Given the description of an element on the screen output the (x, y) to click on. 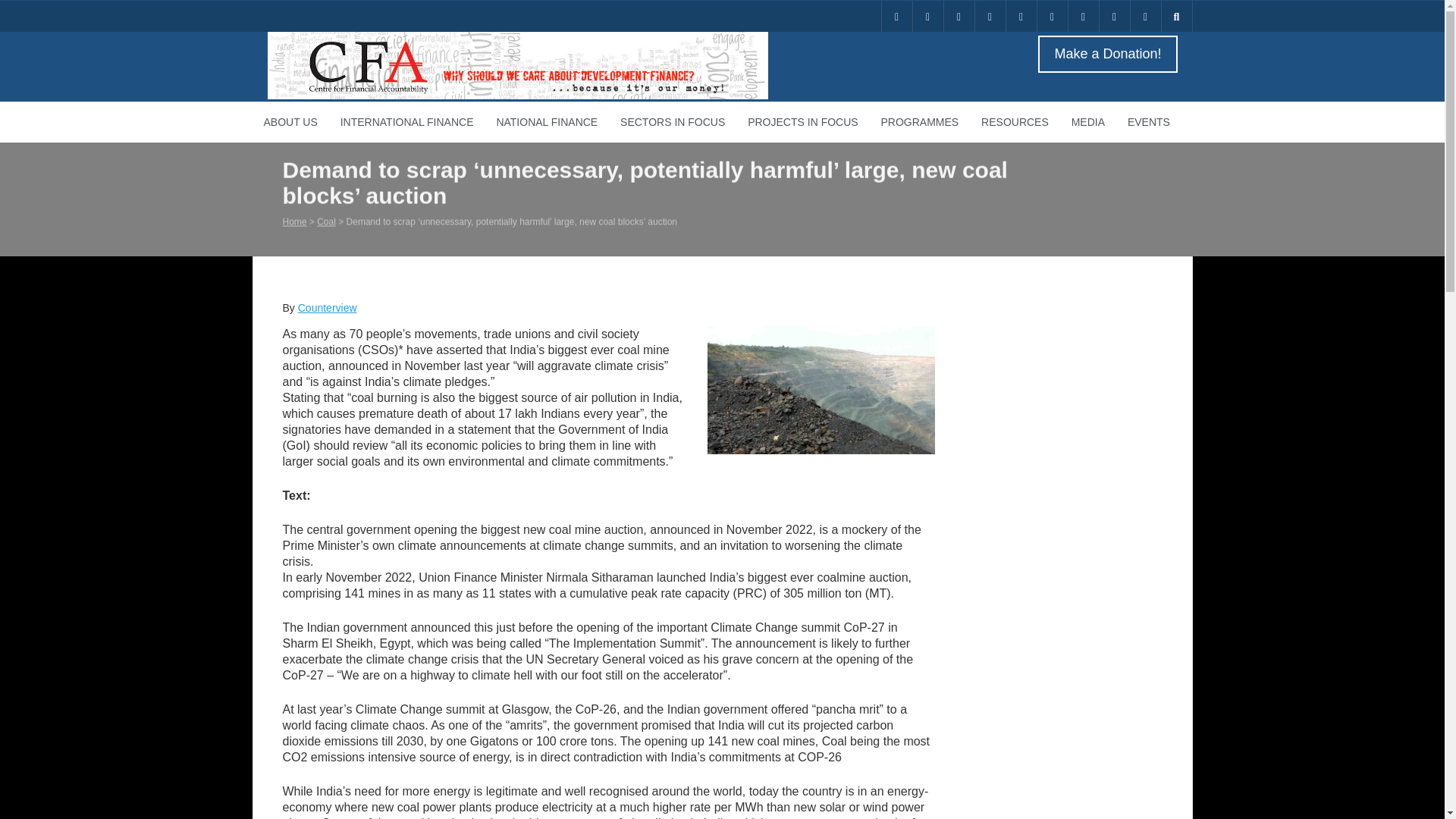
Make a Donation! (1112, 55)
Donate Us (895, 15)
instagram (1020, 15)
Youtube (1051, 15)
Make a Donation! (1106, 54)
ABOUT US (290, 121)
Twitter (927, 15)
NATIONAL FINANCE (546, 121)
Posts by Counterview (327, 307)
linkedin (958, 15)
Search (22, 8)
Facebook (990, 15)
Centre for Financial Accountability -  (516, 95)
SECTORS IN FOCUS (672, 121)
spotify (1114, 15)
